Given the description of an element on the screen output the (x, y) to click on. 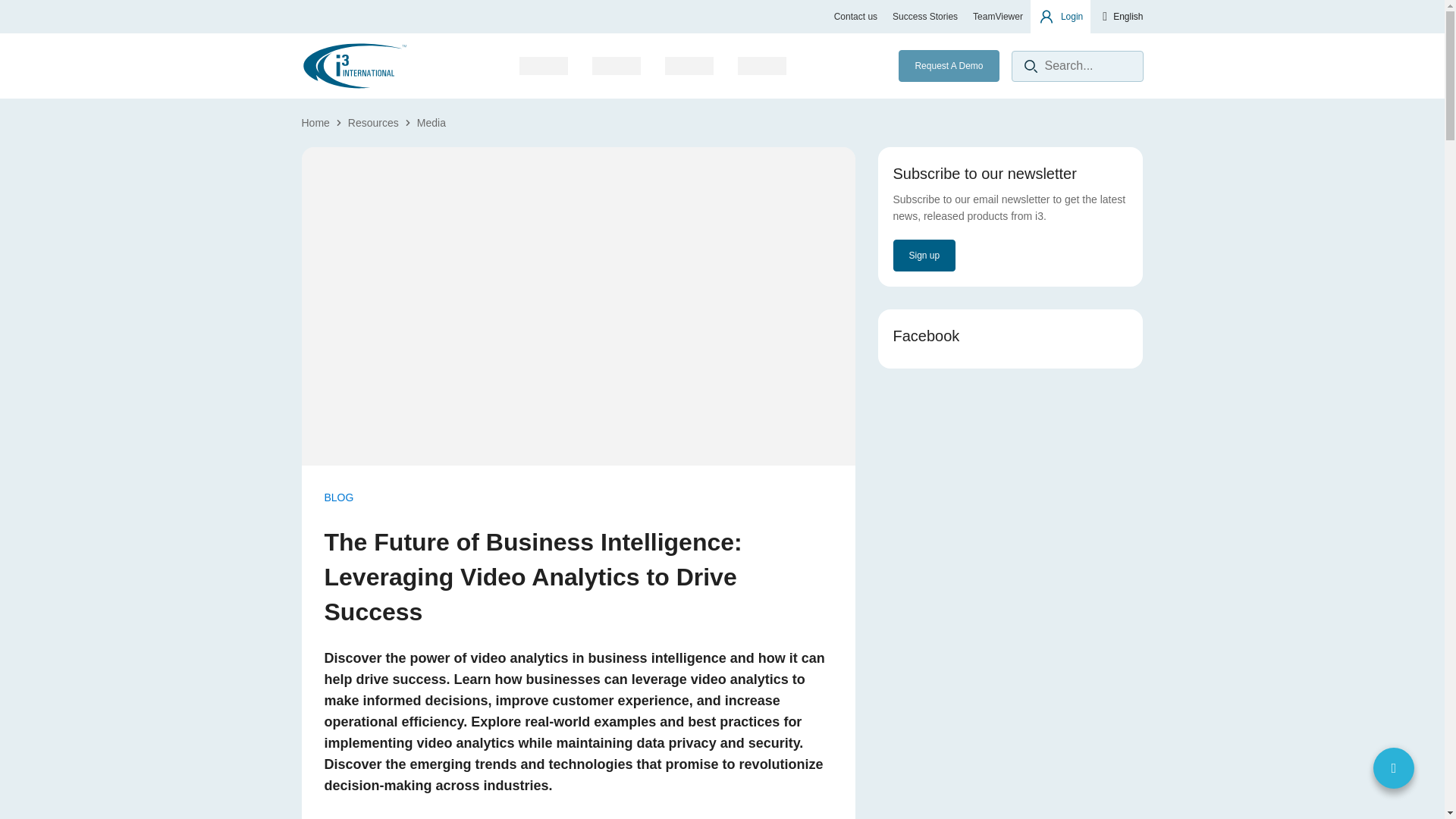
TeamViewer (997, 16)
Media (430, 122)
BLOG (338, 497)
Contact us (856, 16)
Home (315, 122)
Sign up (924, 255)
Request A Demo (948, 65)
Success Stories (135, 48)
Resources (925, 16)
